Given the description of an element on the screen output the (x, y) to click on. 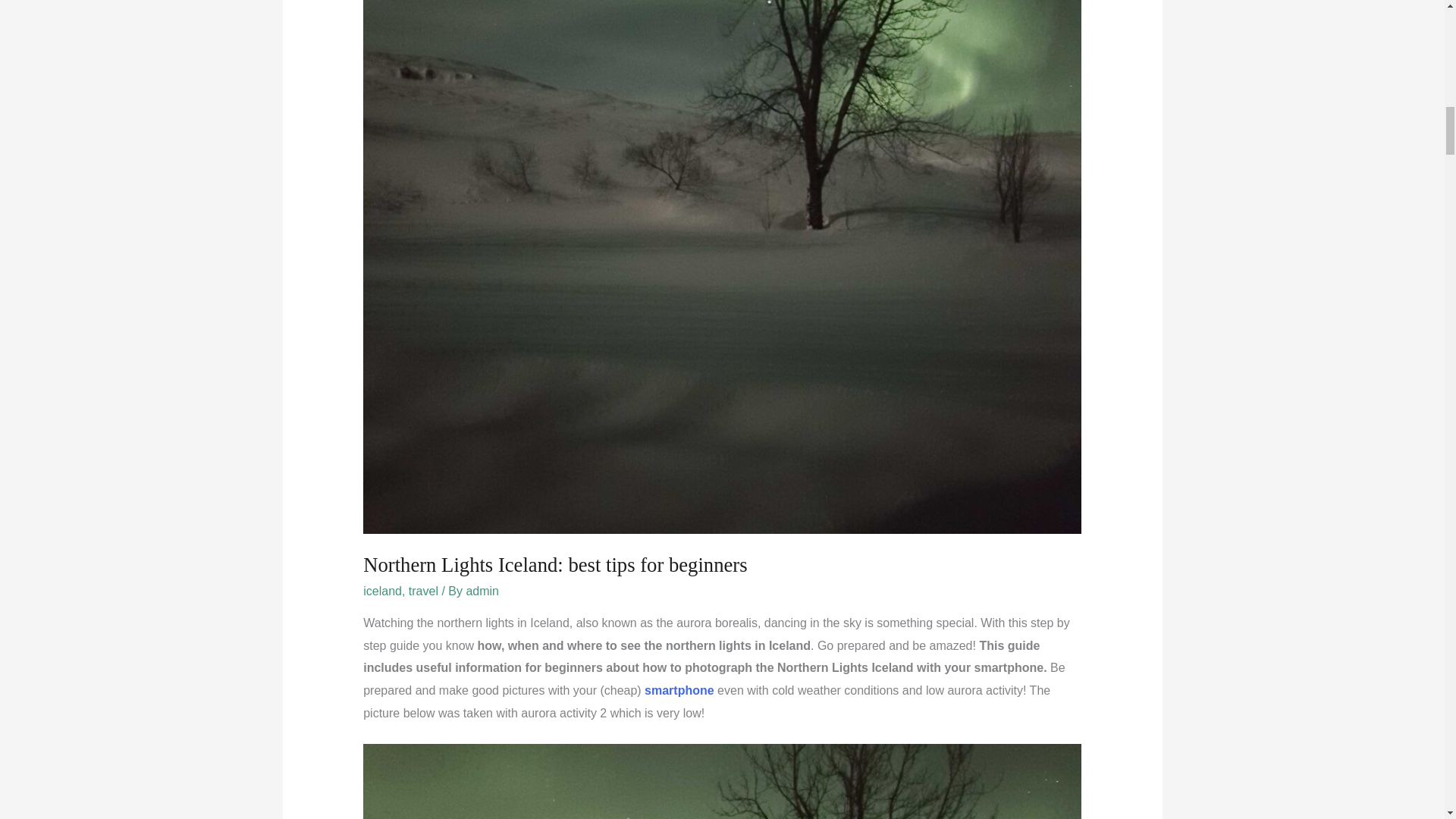
travel (423, 590)
admin (482, 590)
Northern Lights Iceland: best tips for beginners (554, 564)
smartphone (679, 689)
View all posts by admin (482, 590)
iceland (381, 590)
